Given the description of an element on the screen output the (x, y) to click on. 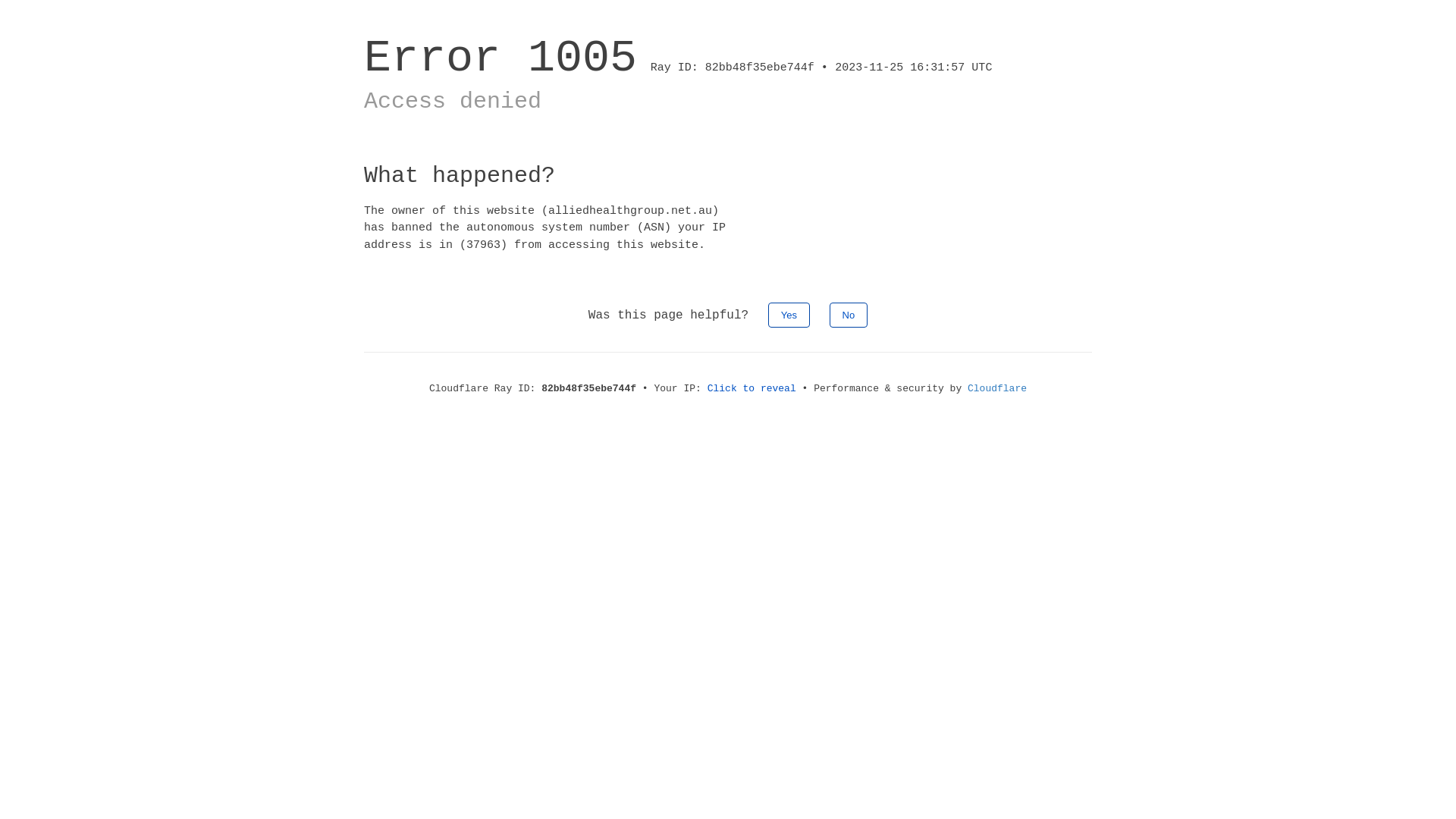
Yes Element type: text (788, 314)
Cloudflare Element type: text (996, 388)
Click to reveal Element type: text (751, 388)
No Element type: text (848, 314)
